Given the description of an element on the screen output the (x, y) to click on. 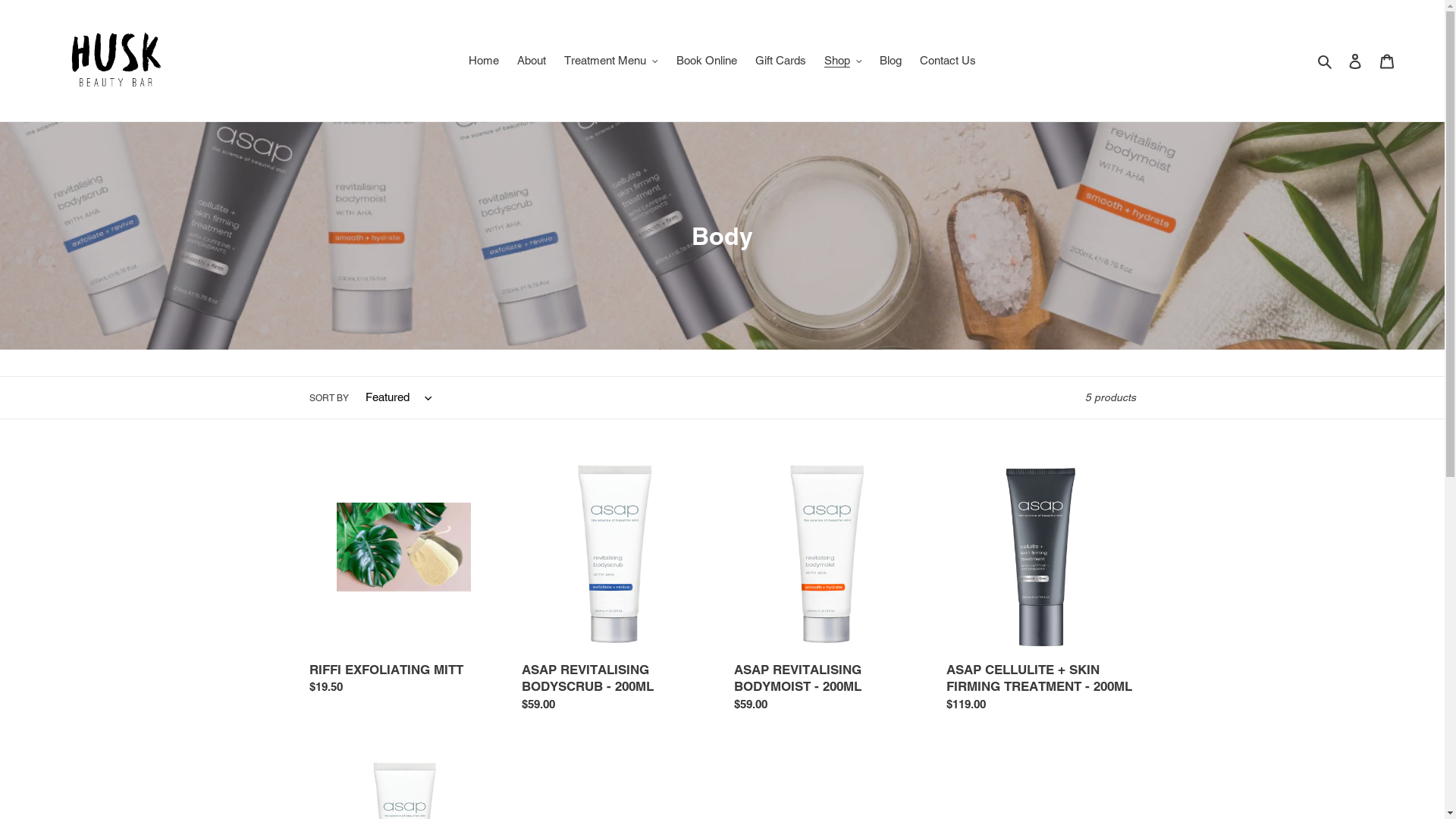
ASAP REVITALISING BODYMOIST - 200ML Element type: text (828, 589)
Log in Element type: text (1355, 60)
Book Online Element type: text (706, 61)
Contact Us Element type: text (947, 61)
Blog Element type: text (890, 61)
Cart Element type: text (1386, 60)
Treatment Menu Element type: text (610, 61)
ASAP CELLULITE + SKIN FIRMING TREATMENT - 200ML Element type: text (1040, 589)
Shop Element type: text (842, 61)
Gift Cards Element type: text (780, 61)
Home Element type: text (483, 61)
ASAP REVITALISING BODYSCRUB - 200ML Element type: text (616, 589)
RIFFI EXFOLIATING MITT Element type: text (403, 581)
About Element type: text (531, 61)
Search Element type: text (1325, 60)
